Given the description of an element on the screen output the (x, y) to click on. 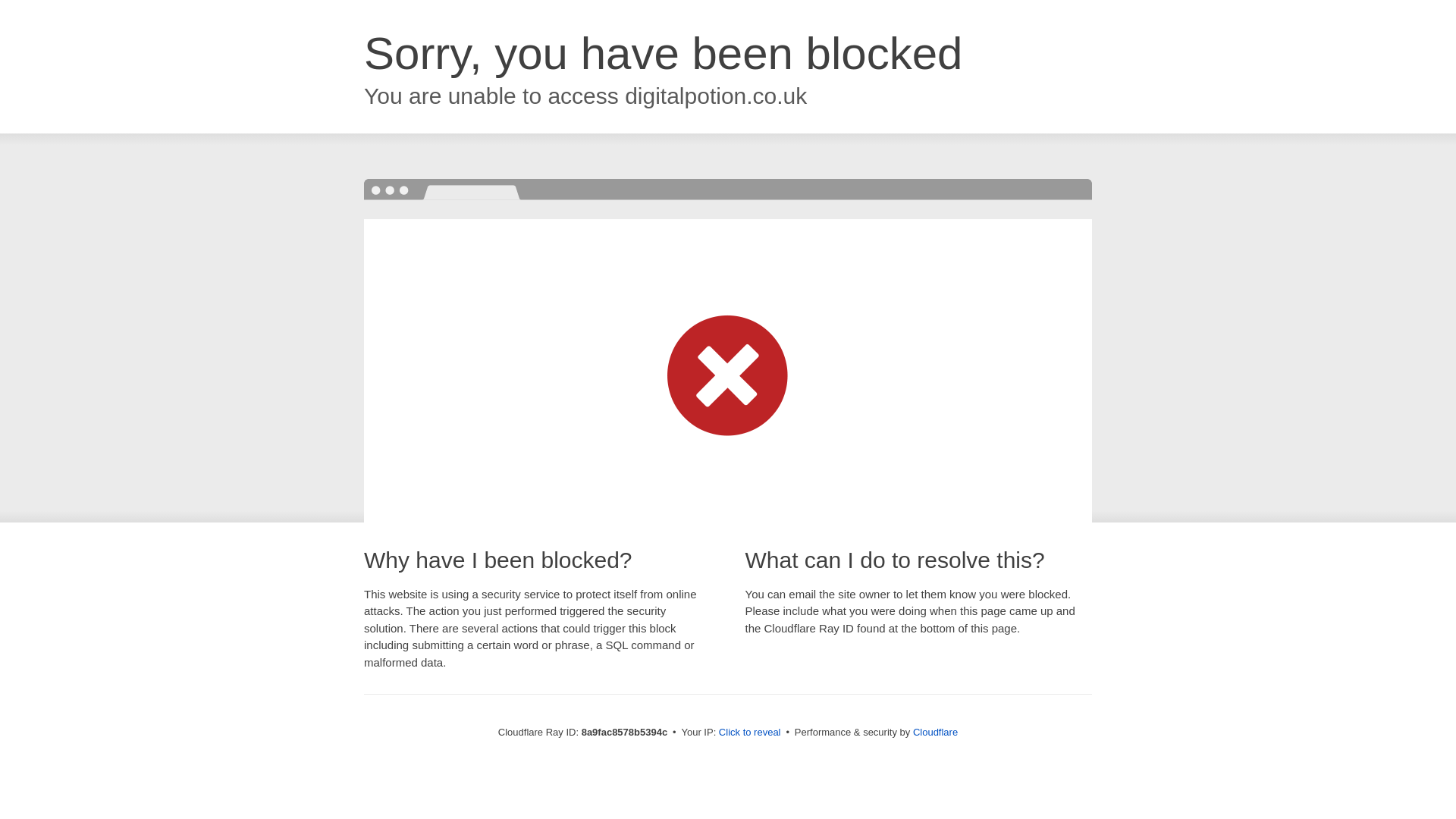
Cloudflare (935, 731)
Click to reveal (749, 732)
